Given the description of an element on the screen output the (x, y) to click on. 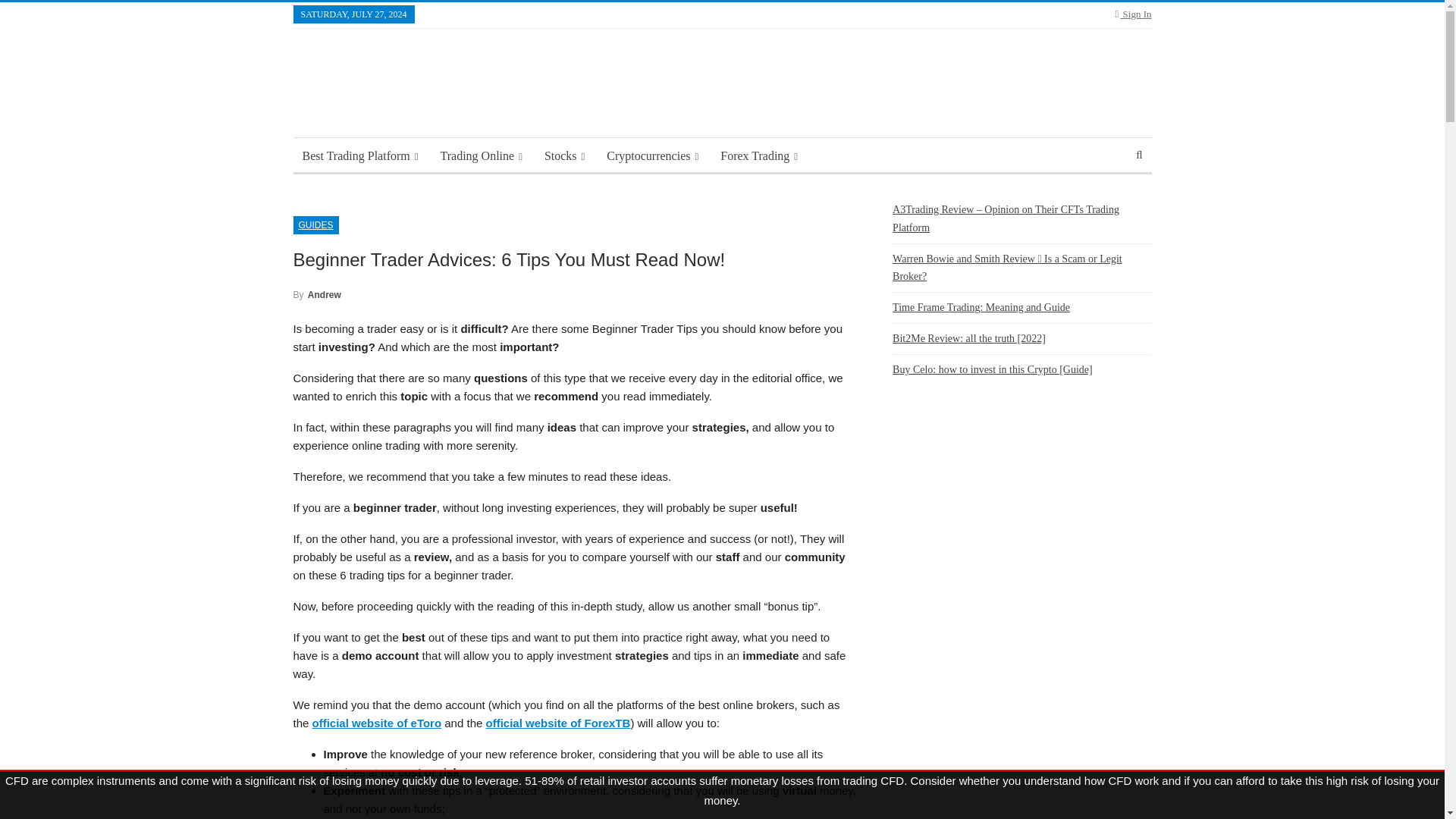
Best Trading Platform (359, 156)
Stocks (564, 156)
Browse Author Articles (316, 294)
Trading Online (480, 156)
GUIDES (314, 225)
Forex Trading (758, 156)
Sign In (1133, 13)
Cryptocurrencies (651, 156)
